Given the description of an element on the screen output the (x, y) to click on. 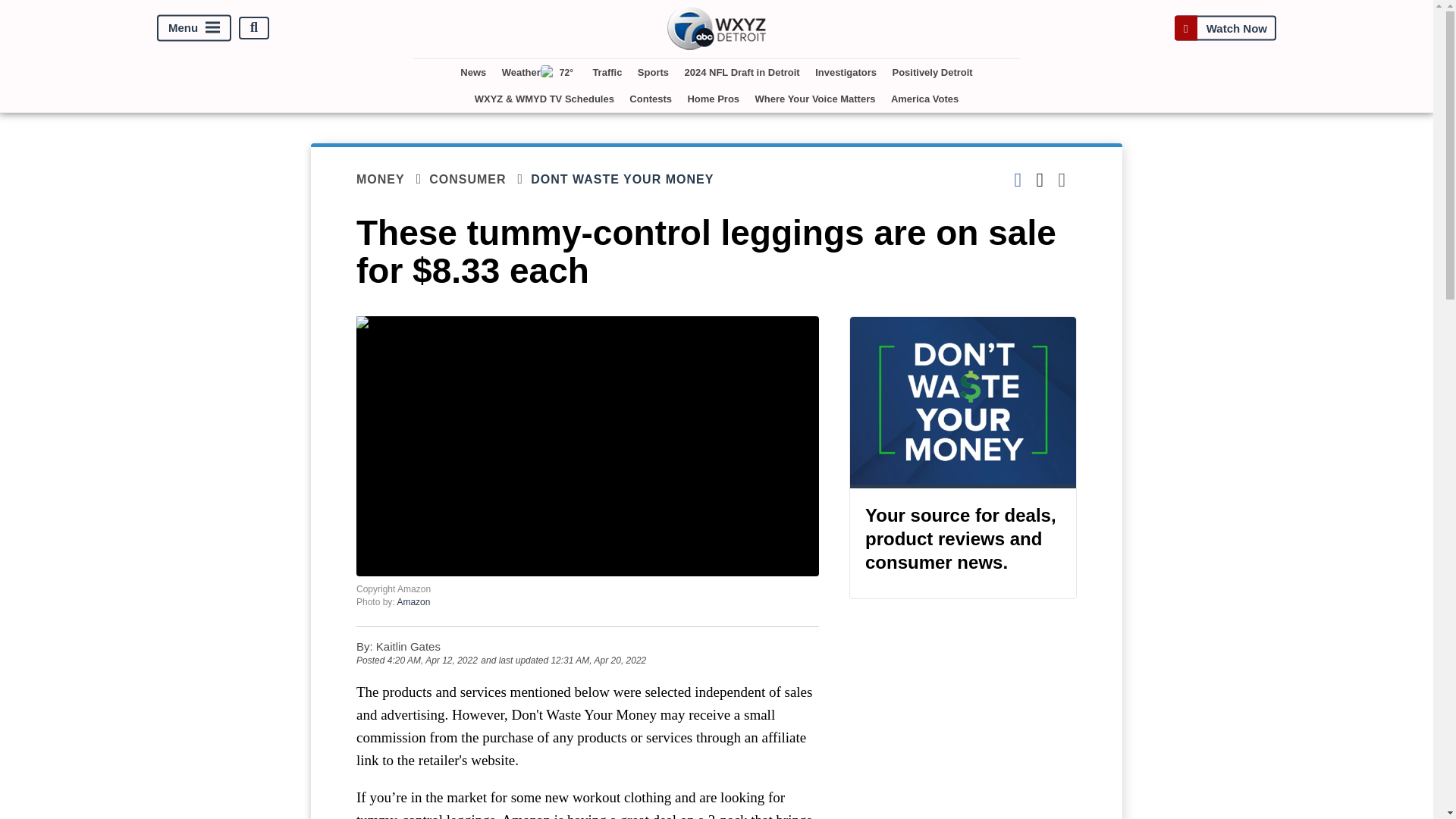
Watch Now (1224, 27)
Menu (194, 27)
